Given the description of an element on the screen output the (x, y) to click on. 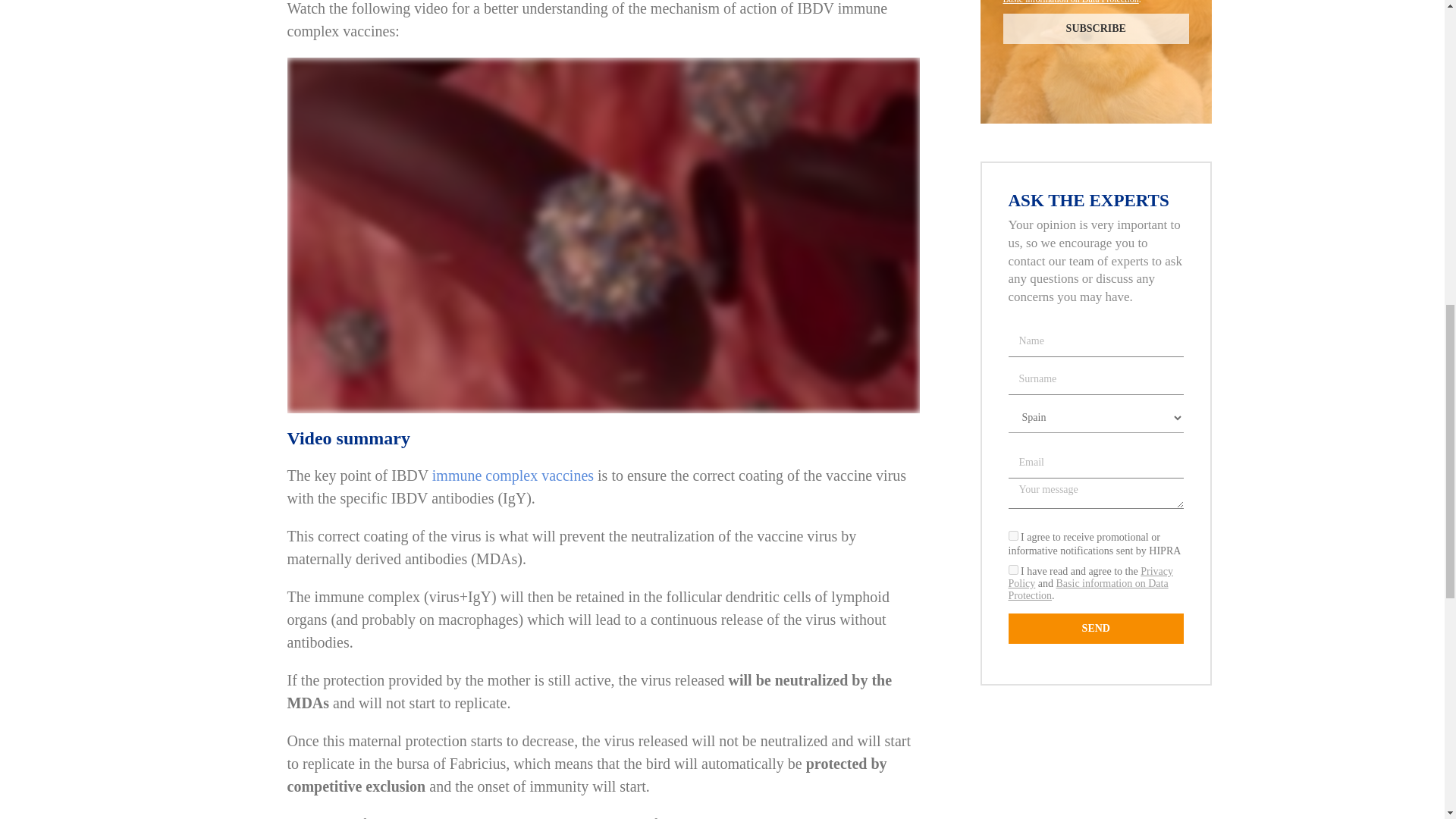
Basic information on Data Protection (1070, 2)
immune complex vaccines (513, 475)
SEND (1097, 628)
SEND (1097, 628)
Privacy Policy (1091, 576)
Basic information on Data Protection (1089, 589)
1 (1013, 569)
Subscribe (1096, 28)
